Given the description of an element on the screen output the (x, y) to click on. 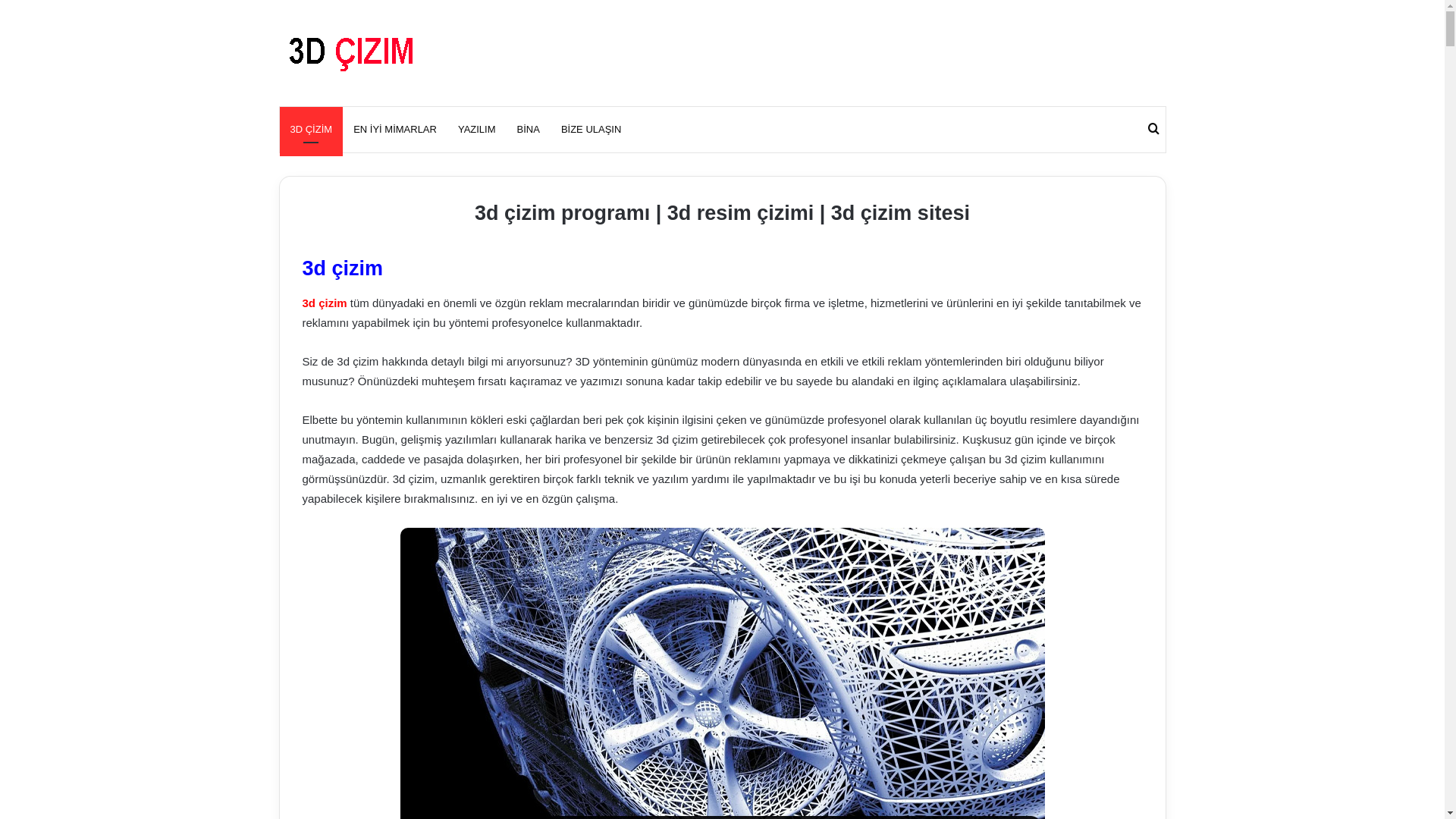
Arama yap ... Element type: text (1153, 129)
EN IYI MIMARLAR Element type: text (394, 129)
BINA Element type: text (528, 129)
YAZILIM Element type: text (476, 129)
